Given the description of an element on the screen output the (x, y) to click on. 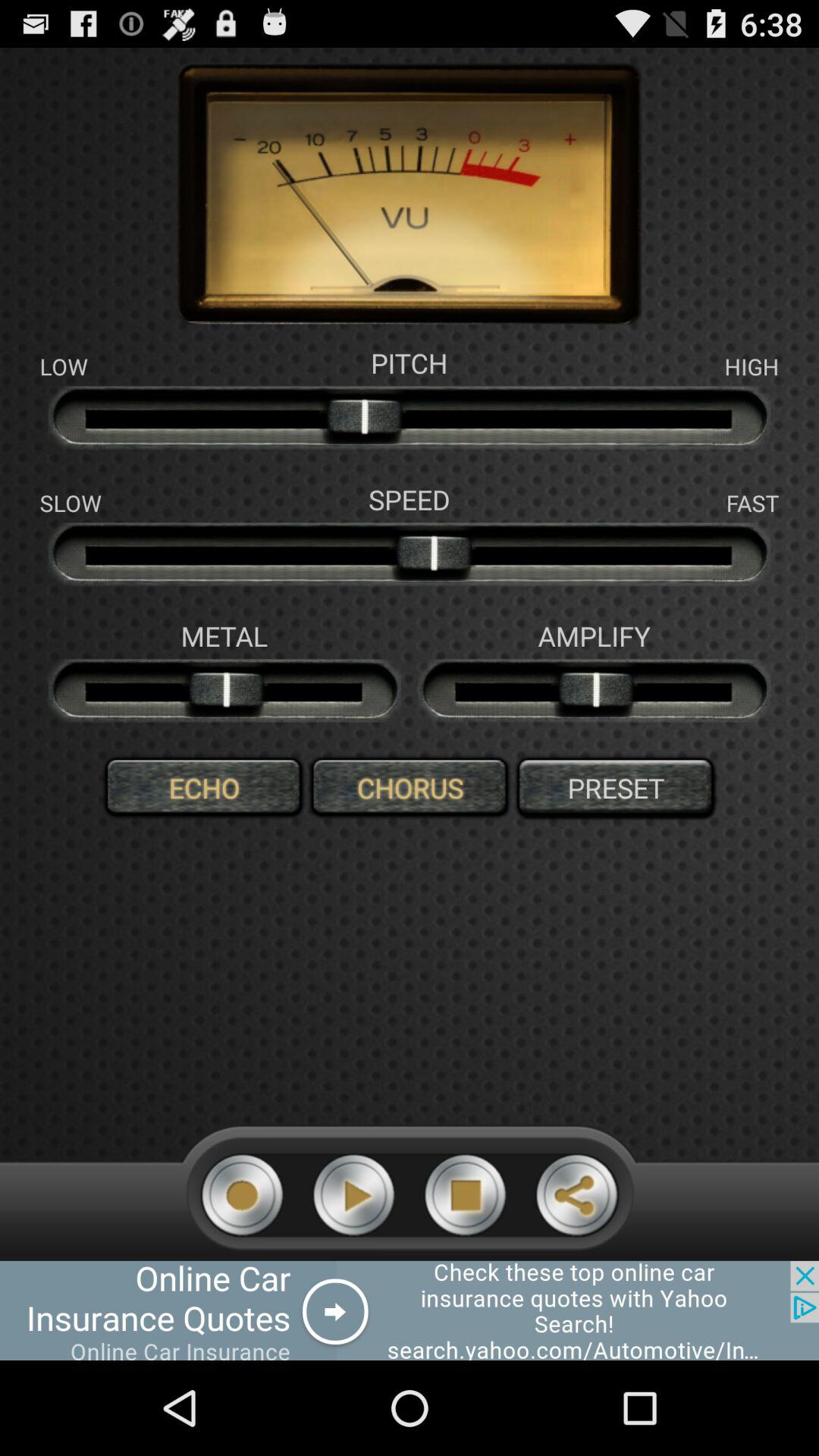
recording icon (242, 1195)
